Given the description of an element on the screen output the (x, y) to click on. 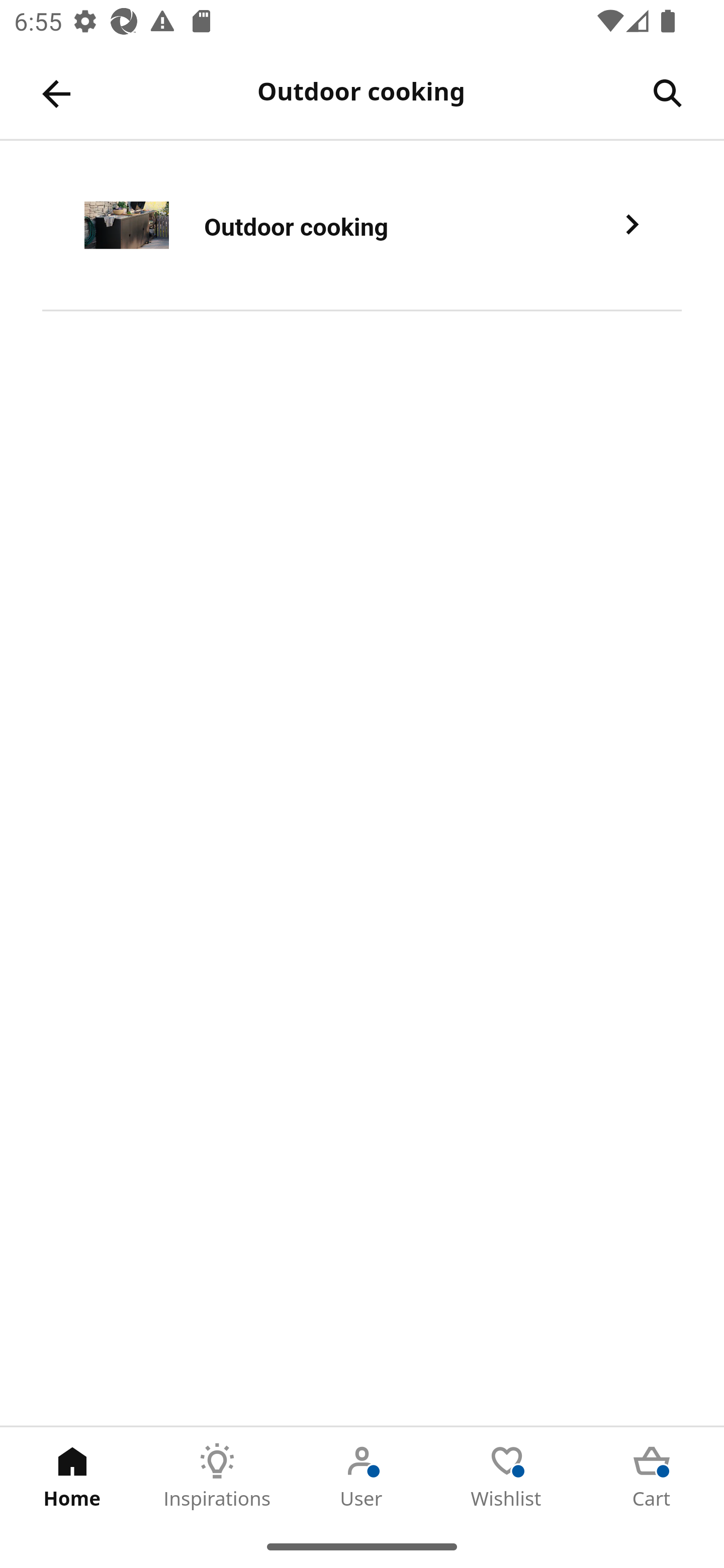
Outdoor cooking (361, 226)
Home
Tab 1 of 5 (72, 1476)
Inspirations
Tab 2 of 5 (216, 1476)
User
Tab 3 of 5 (361, 1476)
Wishlist
Tab 4 of 5 (506, 1476)
Cart
Tab 5 of 5 (651, 1476)
